Given the description of an element on the screen output the (x, y) to click on. 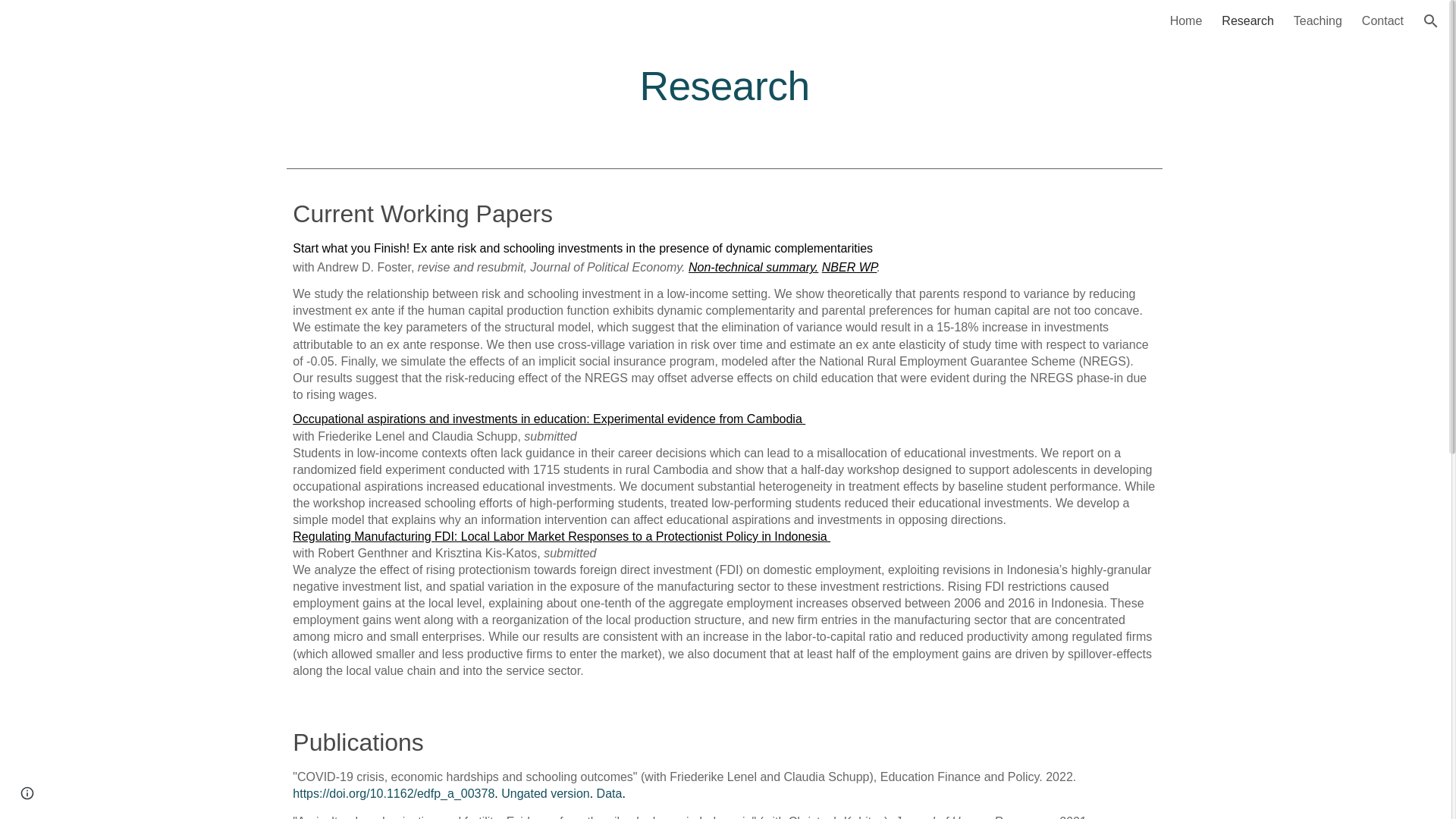
Contact (1382, 20)
Home (1186, 20)
NBER WP (849, 267)
Research (1246, 20)
Teaching (1318, 20)
Data (609, 793)
Ungated version (544, 793)
Non-technical summary. (753, 267)
